Given the description of an element on the screen output the (x, y) to click on. 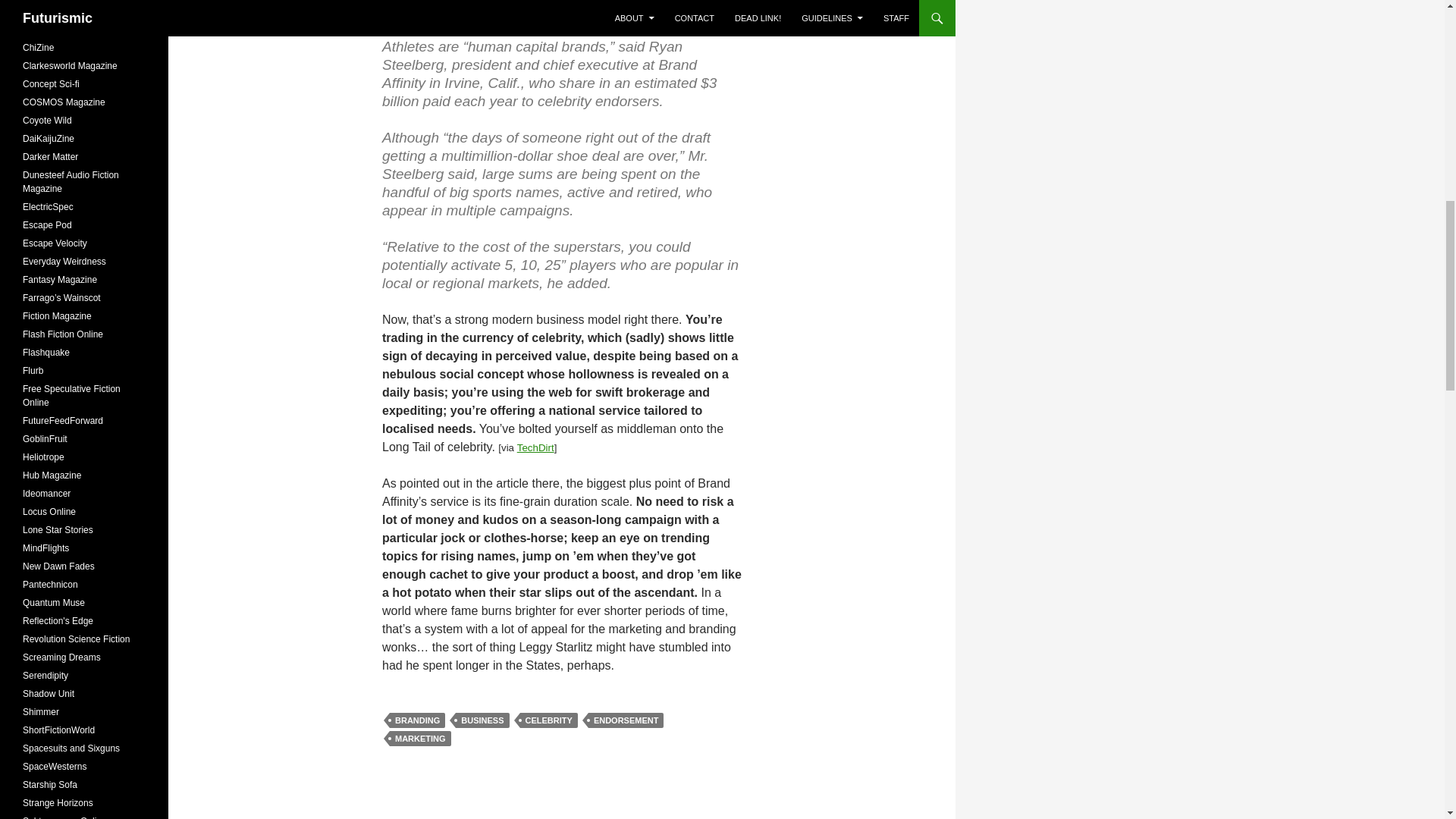
MARKETING (420, 738)
CELEBRITY (548, 720)
BRANDING (417, 720)
BUSINESS (481, 720)
ENDORSEMENT (625, 720)
TechDirt (535, 447)
